Given the description of an element on the screen output the (x, y) to click on. 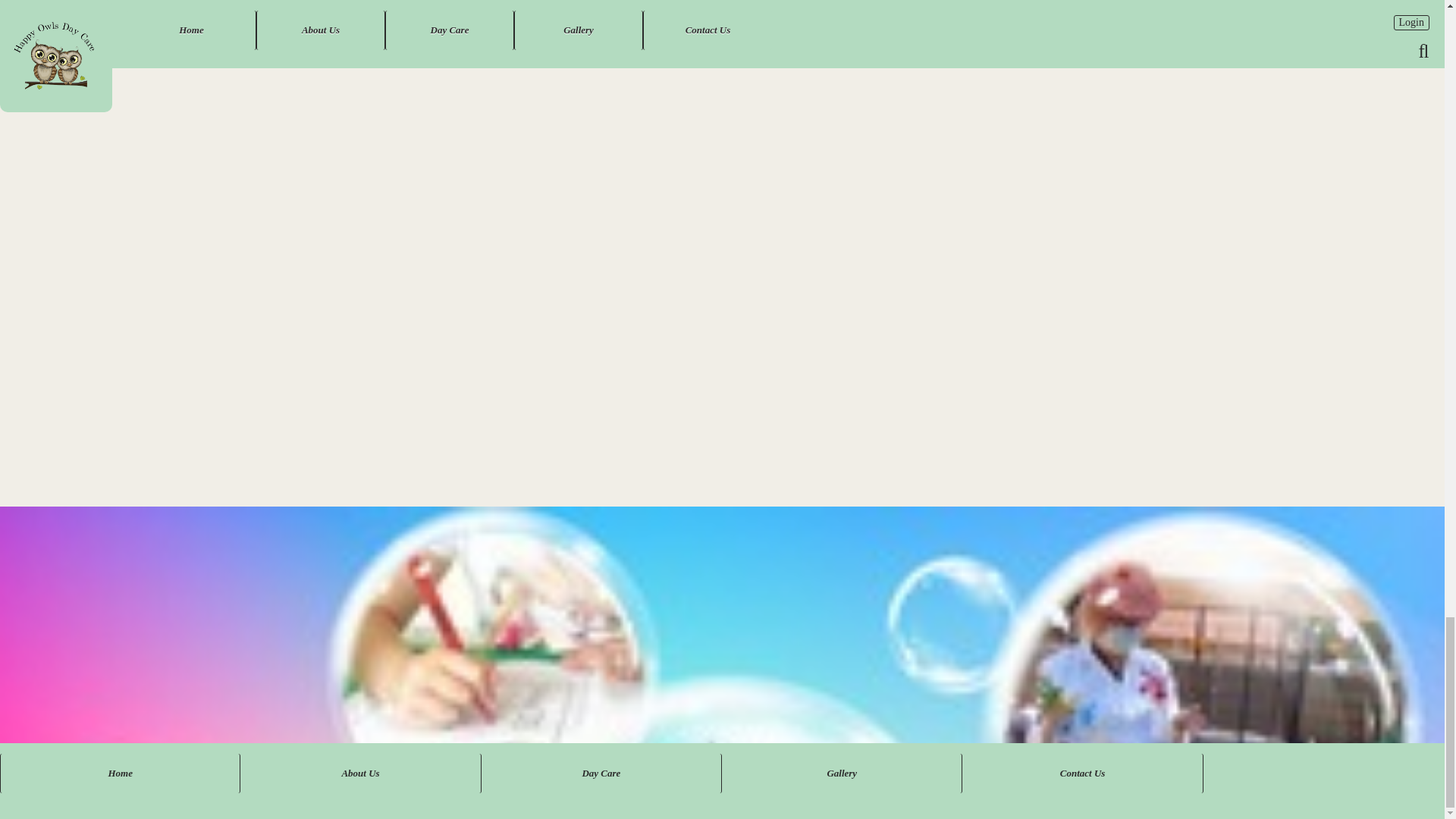
About Us (360, 773)
Day Care (601, 773)
Gallery (842, 773)
Home (120, 773)
Contact Us (1082, 773)
